Given the description of an element on the screen output the (x, y) to click on. 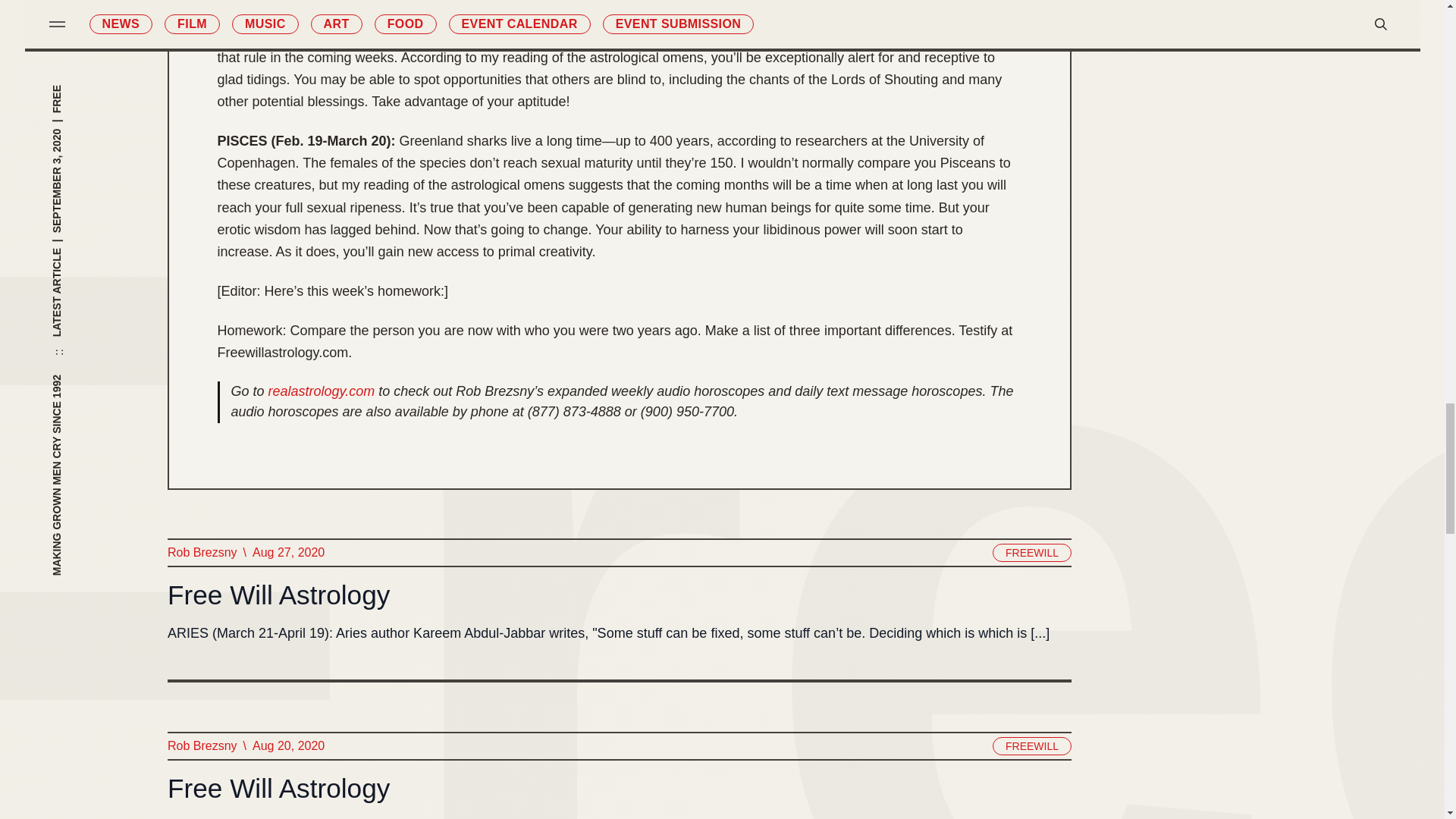
Rob Brezsny (201, 745)
Rob Brezsny (201, 552)
realastrology.com (321, 391)
FREEWILL (1030, 552)
FREEWILL (1030, 746)
